Given the description of an element on the screen output the (x, y) to click on. 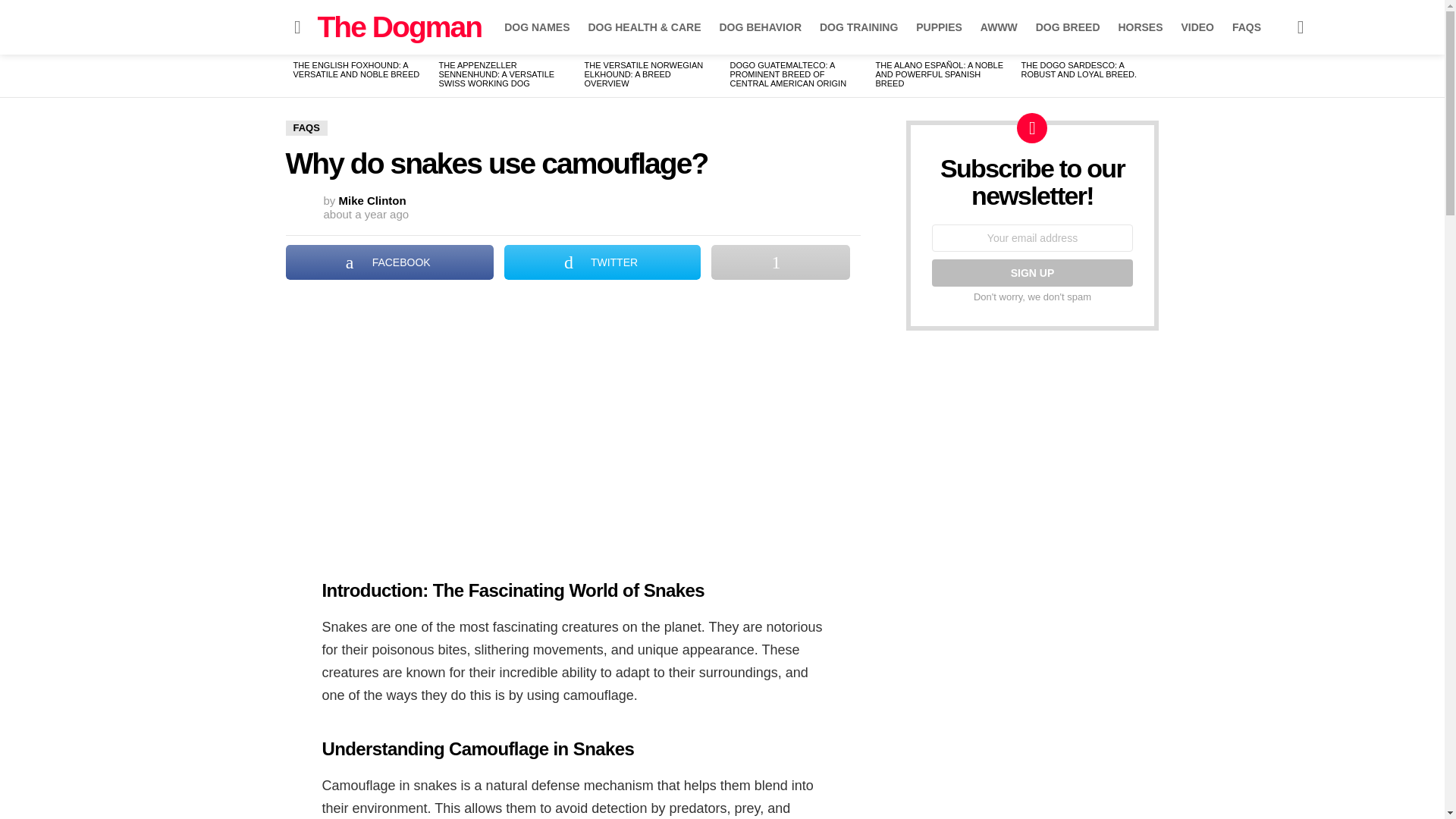
The Dogman (399, 26)
PUPPIES (938, 26)
Share on More Button (779, 262)
Share on Twitter (601, 262)
HORSES (1139, 26)
Menu (296, 27)
TWITTER (601, 262)
DOG BREED (1067, 26)
Sign up (1031, 272)
FACEBOOK (389, 262)
